Given the description of an element on the screen output the (x, y) to click on. 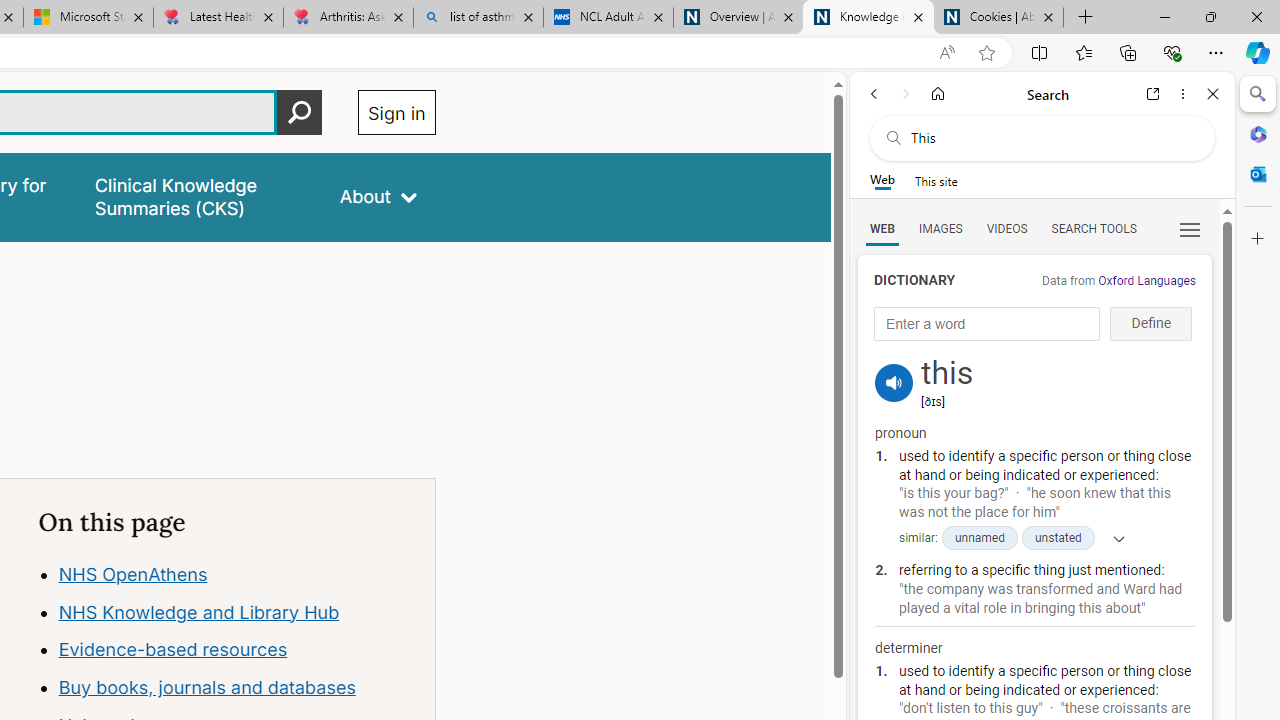
false (198, 196)
NHS Knowledge and Library Hub (198, 611)
